Given the description of an element on the screen output the (x, y) to click on. 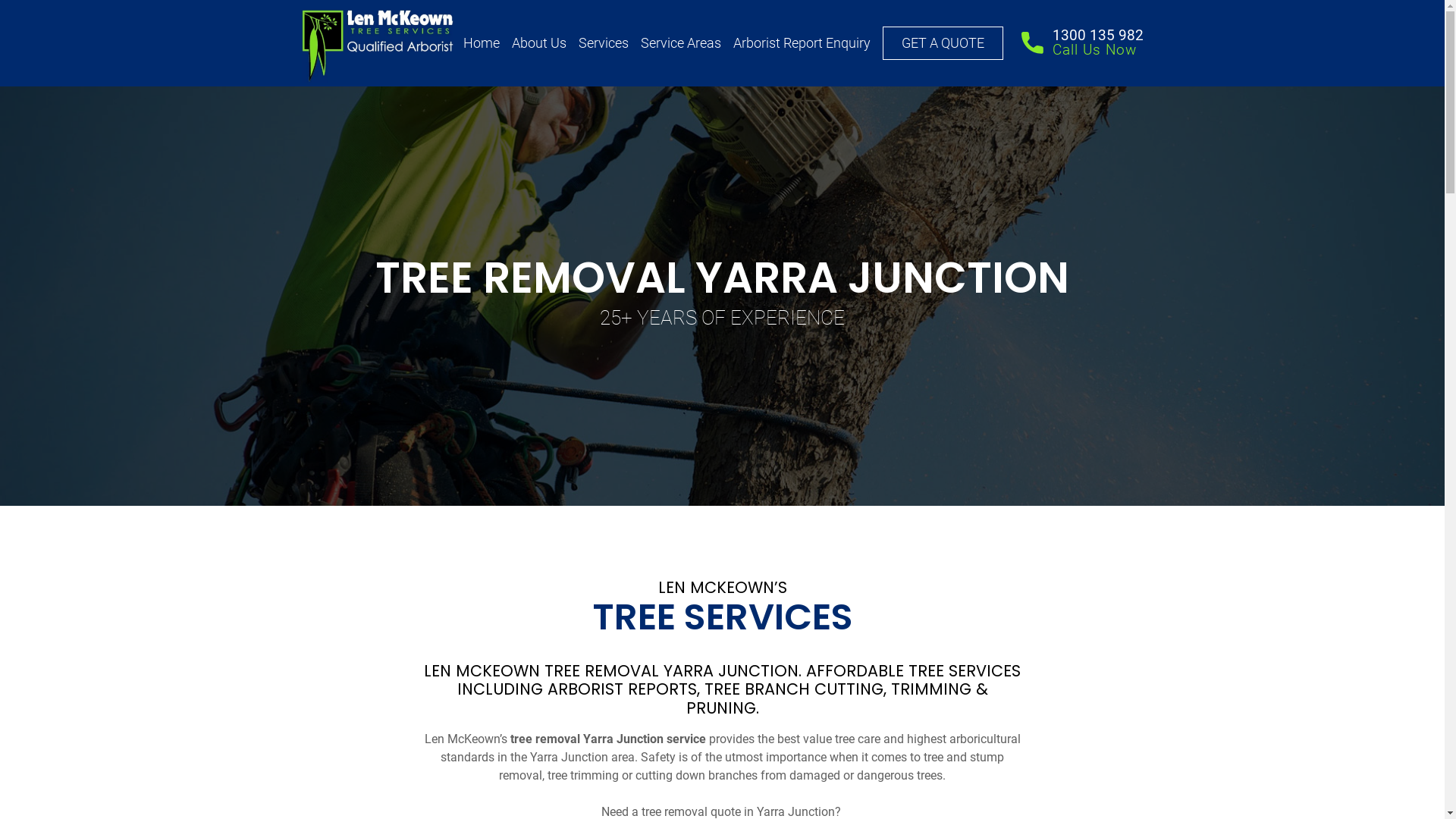
Services Element type: text (603, 42)
1300 135 982
Call Us Now Element type: text (1082, 43)
GET A QUOTE Element type: text (942, 42)
About Us Element type: text (538, 42)
Service Areas Element type: text (680, 42)
Home Element type: text (481, 42)
Arborist Report Enquiry Element type: text (801, 42)
